Given the description of an element on the screen output the (x, y) to click on. 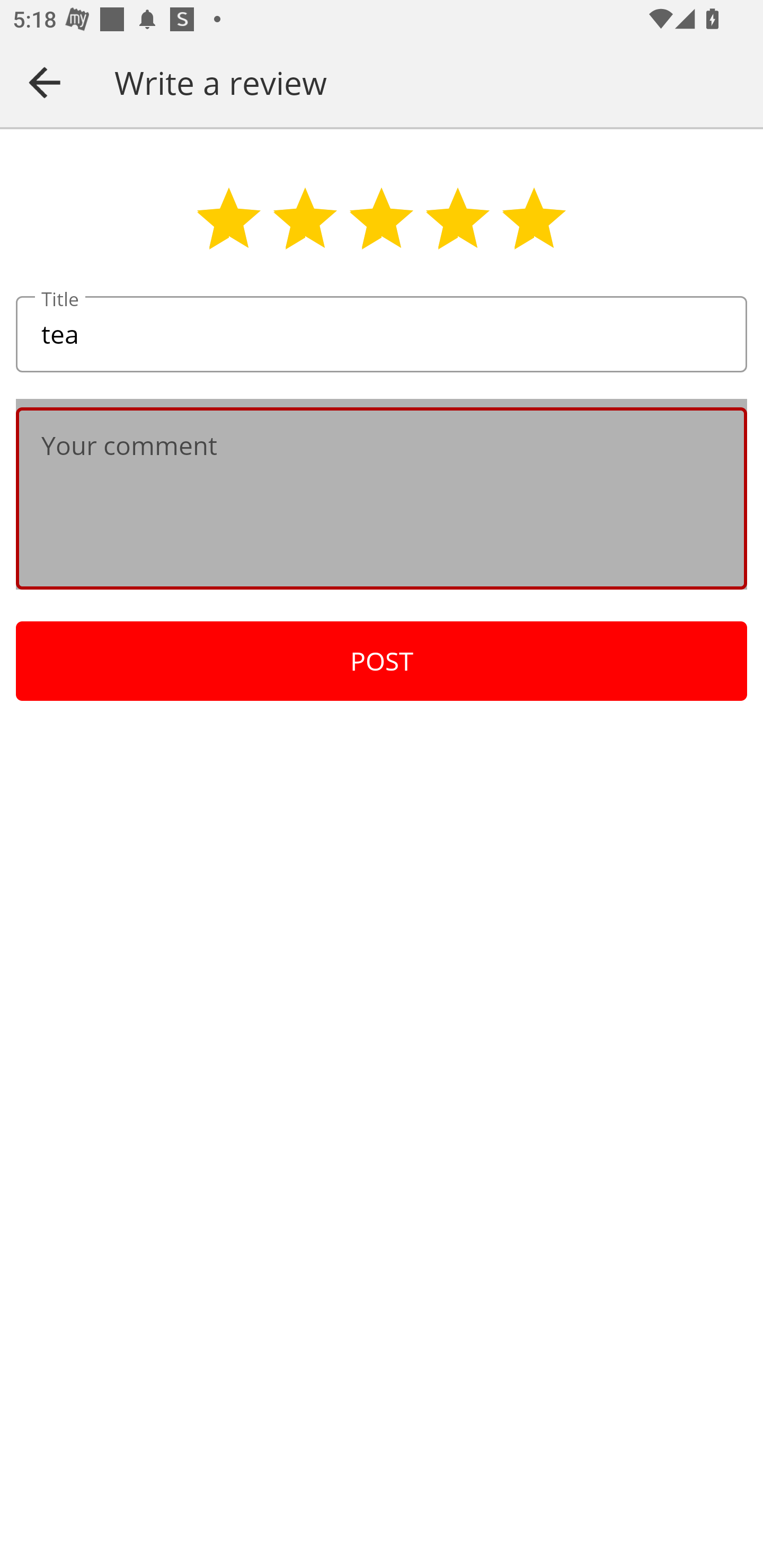
Navigate up (44, 82)
tea (381, 334)
Your comment (381, 498)
POST (381, 660)
